Given the description of an element on the screen output the (x, y) to click on. 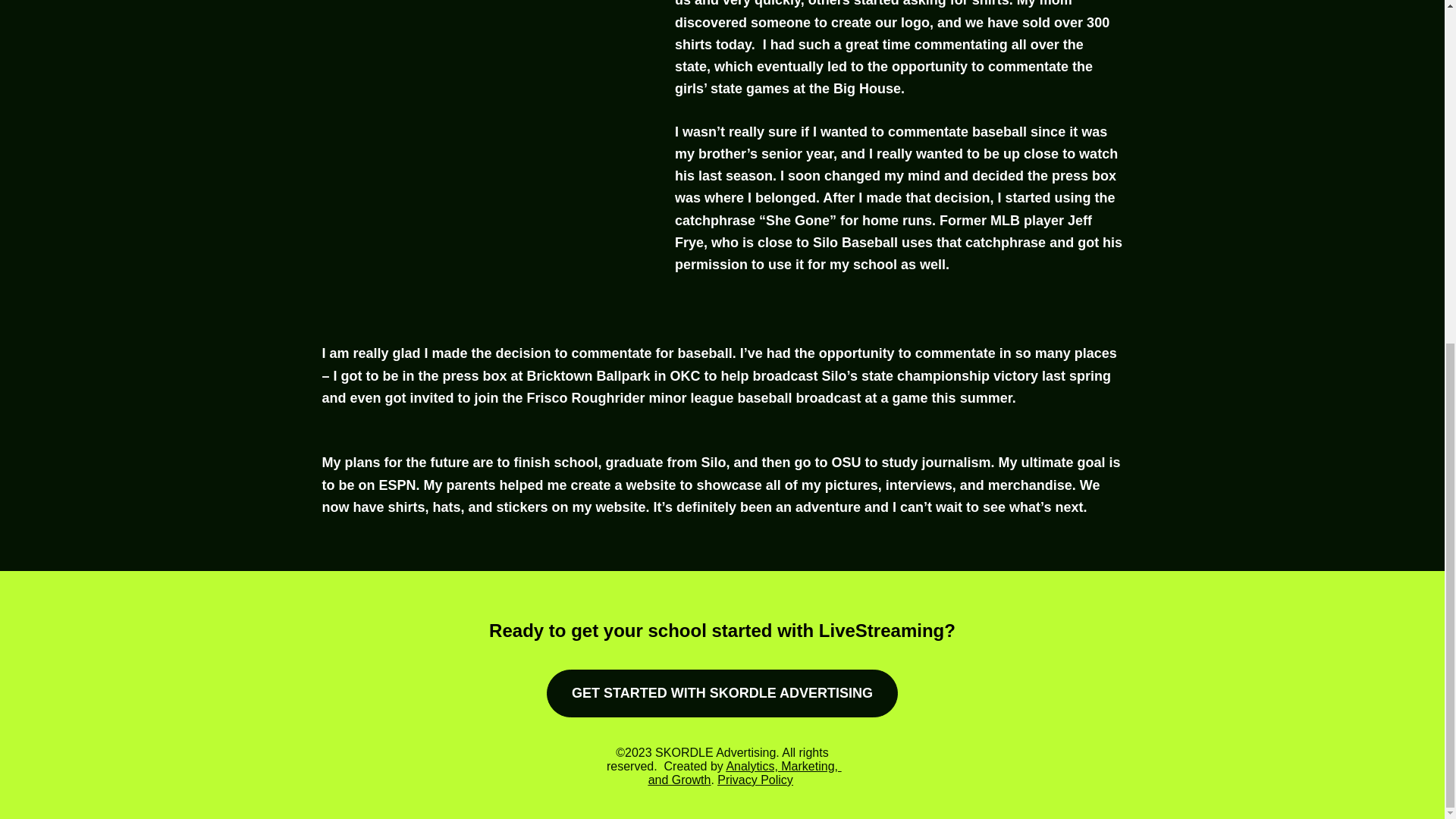
Privacy Policy (755, 779)
Analytics, Marketing, and Growth (744, 773)
GET STARTED WITH SKORDLE ADVERTISING (722, 692)
